Given the description of an element on the screen output the (x, y) to click on. 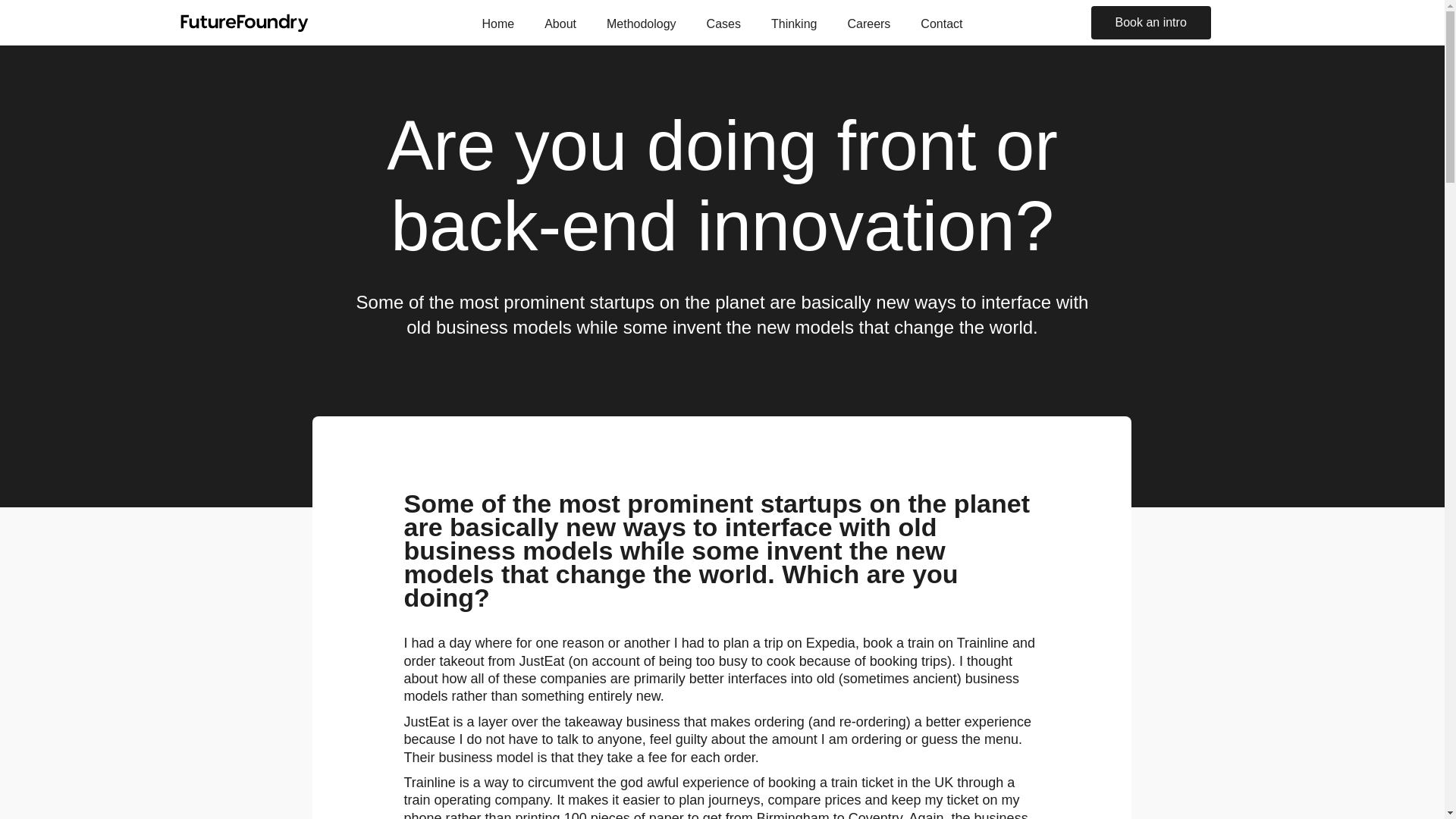
Book an intro (1149, 22)
About (560, 18)
Thinking (793, 18)
Careers (868, 18)
Home (497, 18)
Cases (723, 18)
Methodology (641, 18)
Contact (940, 18)
